Given the description of an element on the screen output the (x, y) to click on. 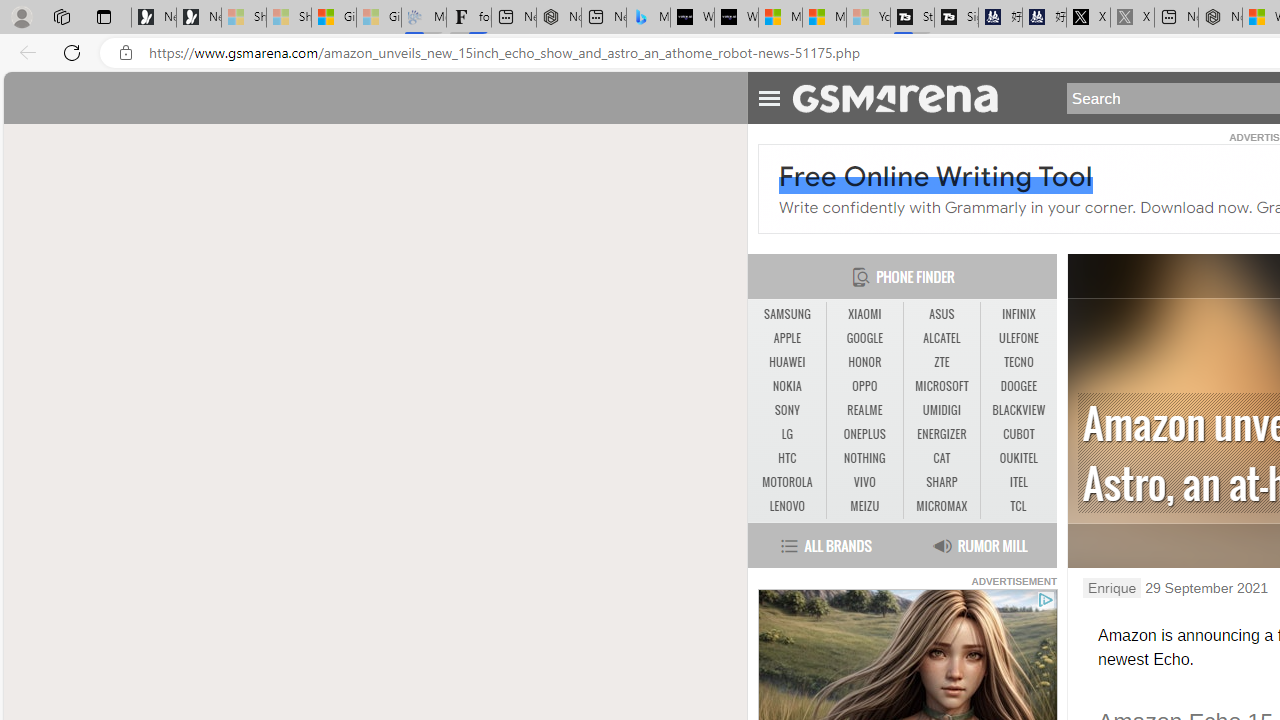
TECNO (1018, 362)
SHARP (941, 483)
NOTHING (863, 457)
HONOR (863, 362)
VIVO (864, 483)
MICROSOFT (941, 385)
APPLE (786, 338)
ASUS (941, 313)
HUAWEI (786, 362)
